Given the description of an element on the screen output the (x, y) to click on. 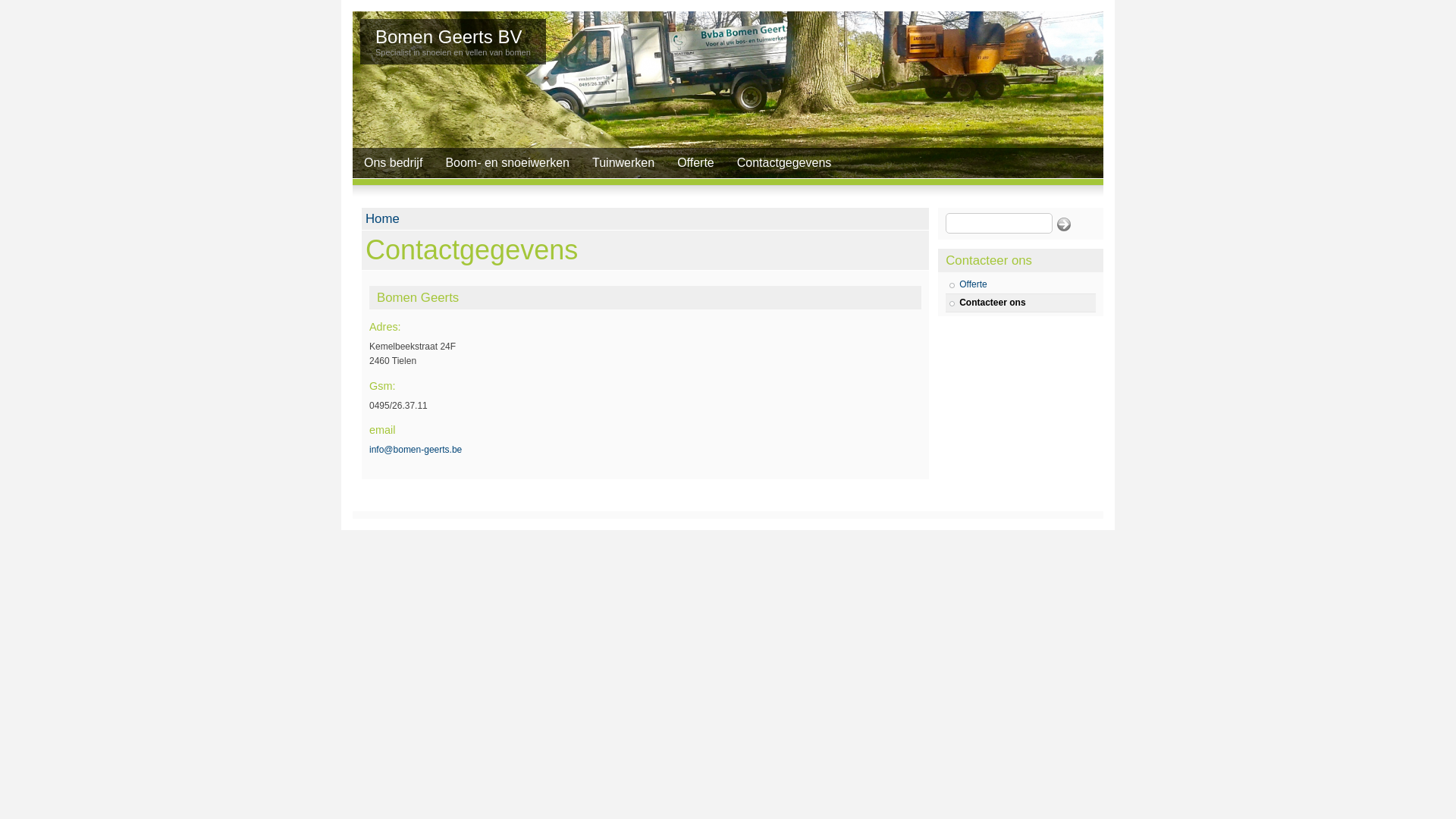
Zoeken Element type: text (1064, 223)
Geef de woorden op waarnaar u wilt zoeken. Element type: hover (998, 223)
Contactgegevens Element type: text (784, 162)
Tuinwerken Element type: text (623, 162)
info@bomen-geerts.be Element type: text (415, 449)
Home Element type: text (382, 218)
Contacteer ons Element type: text (1020, 303)
Offerte Element type: text (695, 162)
Offerte Element type: text (1020, 285)
Boom- en snoeiwerken Element type: text (507, 162)
Ons bedrijf Element type: text (393, 162)
Tuinwerken, Snoeien en Vellen Element type: hover (727, 94)
Bomen Geerts BV Element type: text (448, 36)
